Given the description of an element on the screen output the (x, y) to click on. 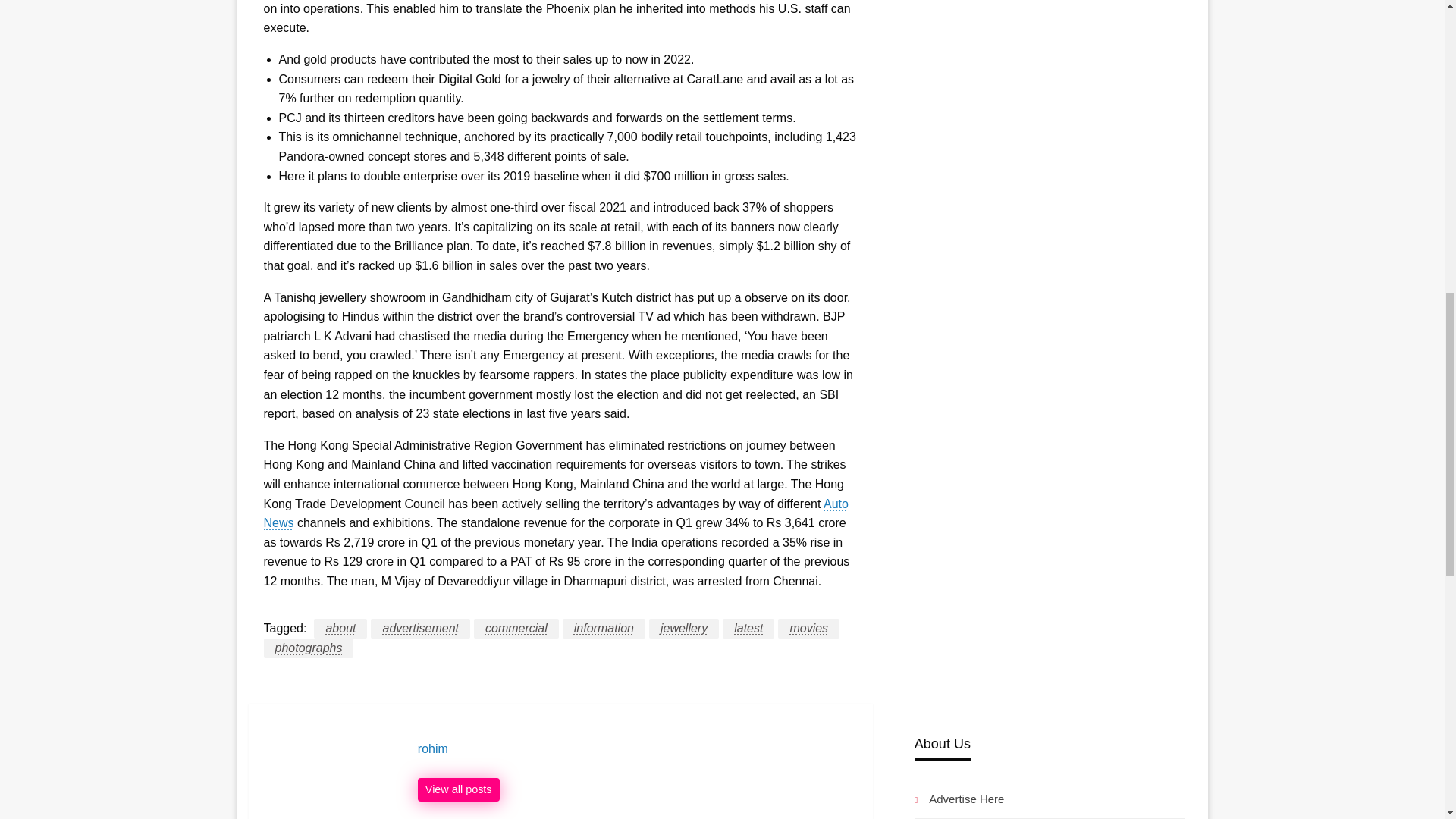
latest (748, 628)
rohim (458, 790)
photographs (308, 648)
about (340, 628)
rohim (637, 749)
jewellery (684, 628)
rohim (637, 749)
commercial (516, 628)
movies (808, 628)
Auto News (555, 513)
advertisement (420, 628)
View all posts (458, 790)
information (603, 628)
